Given the description of an element on the screen output the (x, y) to click on. 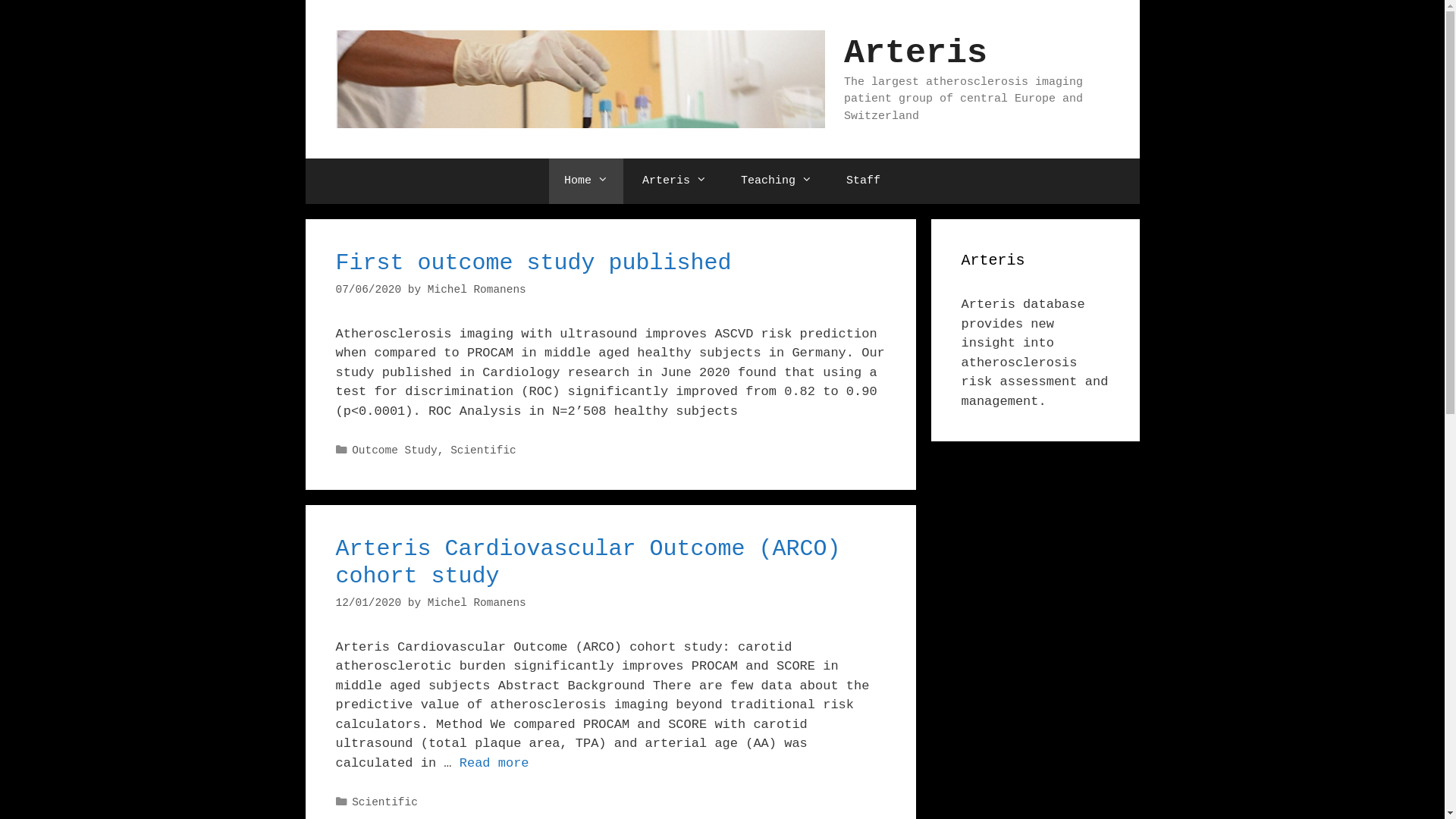
First outcome study published Element type: text (533, 263)
Arteris Element type: text (915, 53)
Michel Romanens Element type: text (476, 289)
Arteris Element type: text (674, 180)
Arteris Cardiovascular Outcome (ARCO) cohort study Element type: text (587, 562)
Michel Romanens Element type: text (476, 602)
Teaching Element type: text (776, 180)
Staff Element type: text (863, 180)
Scientific Element type: text (384, 802)
Arteris Element type: hover (579, 79)
Scientific Element type: text (483, 450)
Home Element type: text (586, 180)
Outcome Study Element type: text (394, 450)
Arteris Element type: hover (579, 79)
Read more Element type: text (494, 763)
